Given the description of an element on the screen output the (x, y) to click on. 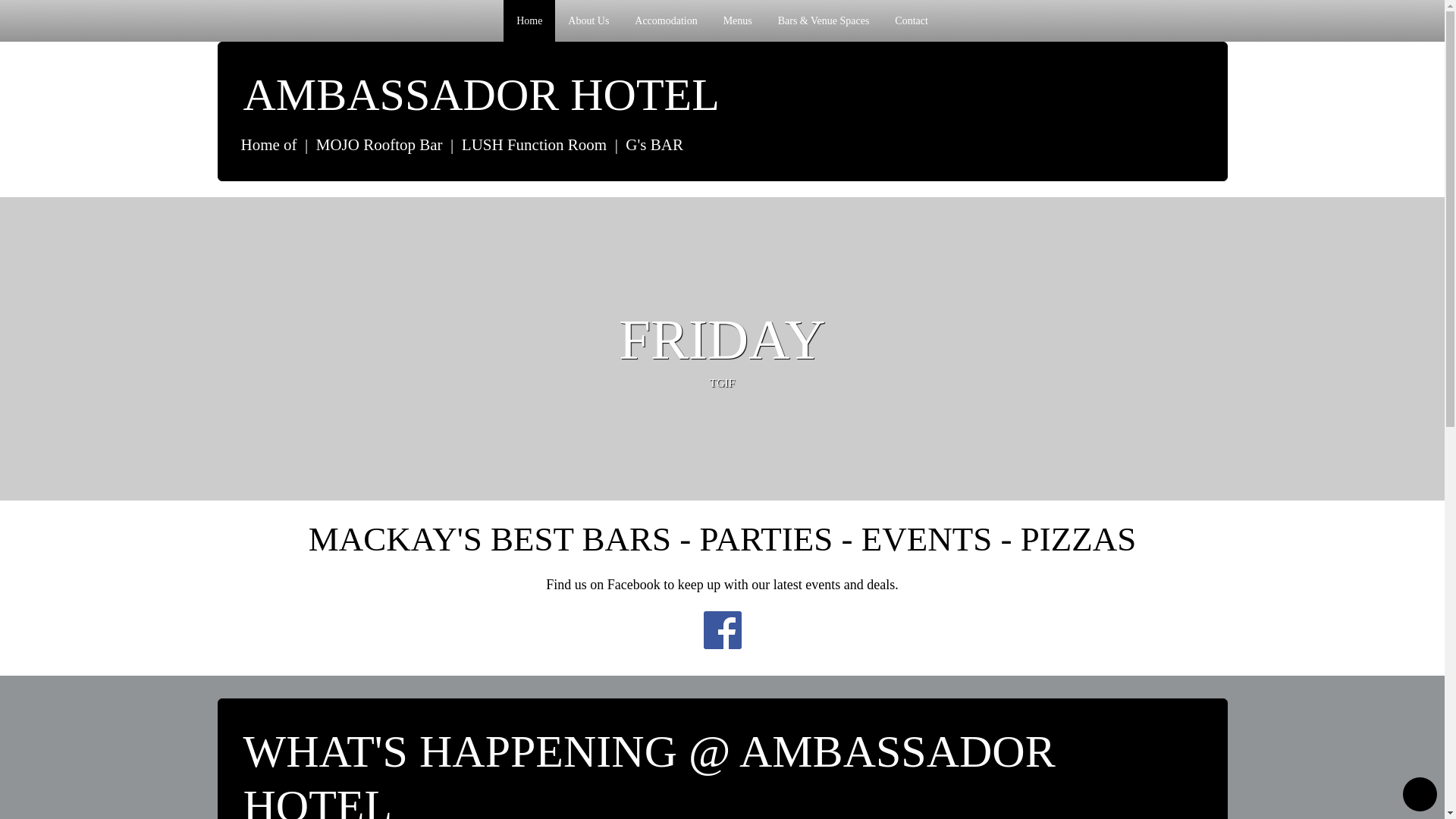
About Us Element type: text (588, 20)
Menus Element type: text (737, 20)
FRIDAY
TGIF Element type: text (722, 349)
Bars & Venue Spaces Element type: text (823, 20)
Home Element type: text (529, 20)
Accomodation Element type: text (665, 20)
Contact Element type: text (910, 20)
